Given the description of an element on the screen output the (x, y) to click on. 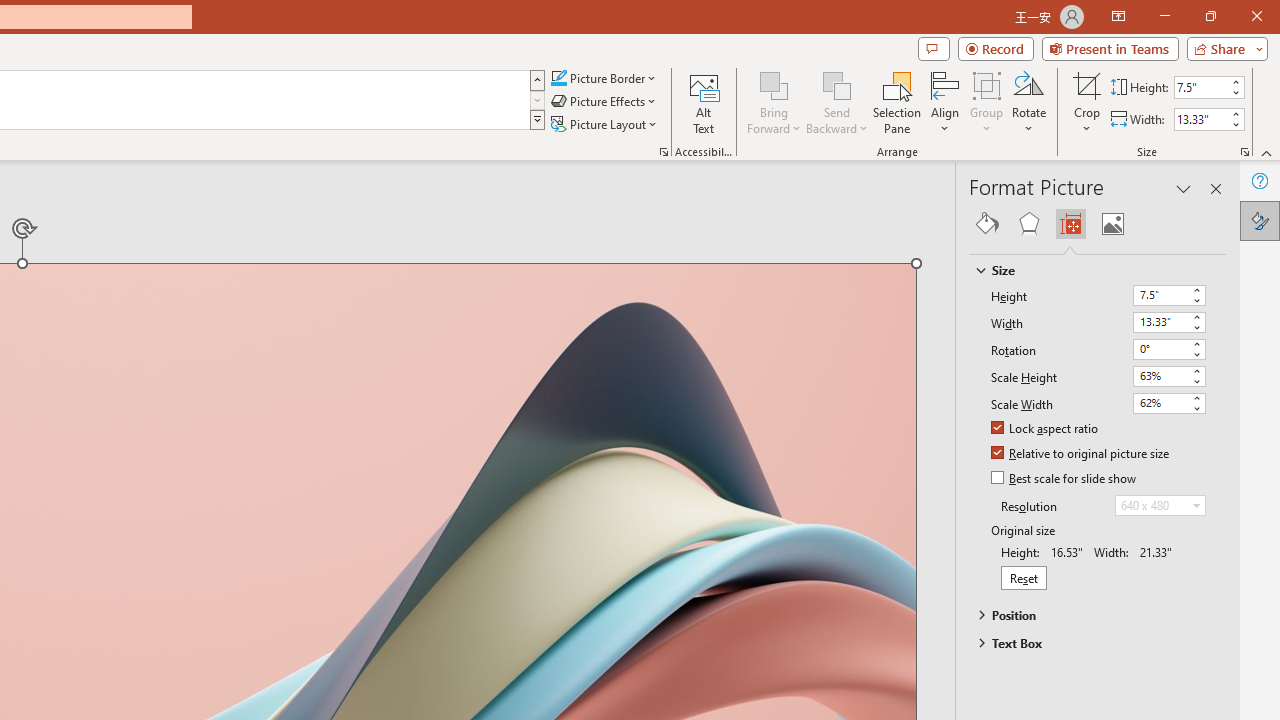
Send Backward (836, 102)
Fill & Line (987, 223)
Height (1168, 295)
Lock aspect ratio (1046, 429)
Relative to original picture size (1081, 453)
Scale Width (1168, 403)
Picture Layout (605, 124)
Width (1168, 321)
Send Backward (836, 84)
Rotation (1168, 349)
Shape Width (1201, 119)
Alt Text (703, 102)
Picture Border (603, 78)
